Given the description of an element on the screen output the (x, y) to click on. 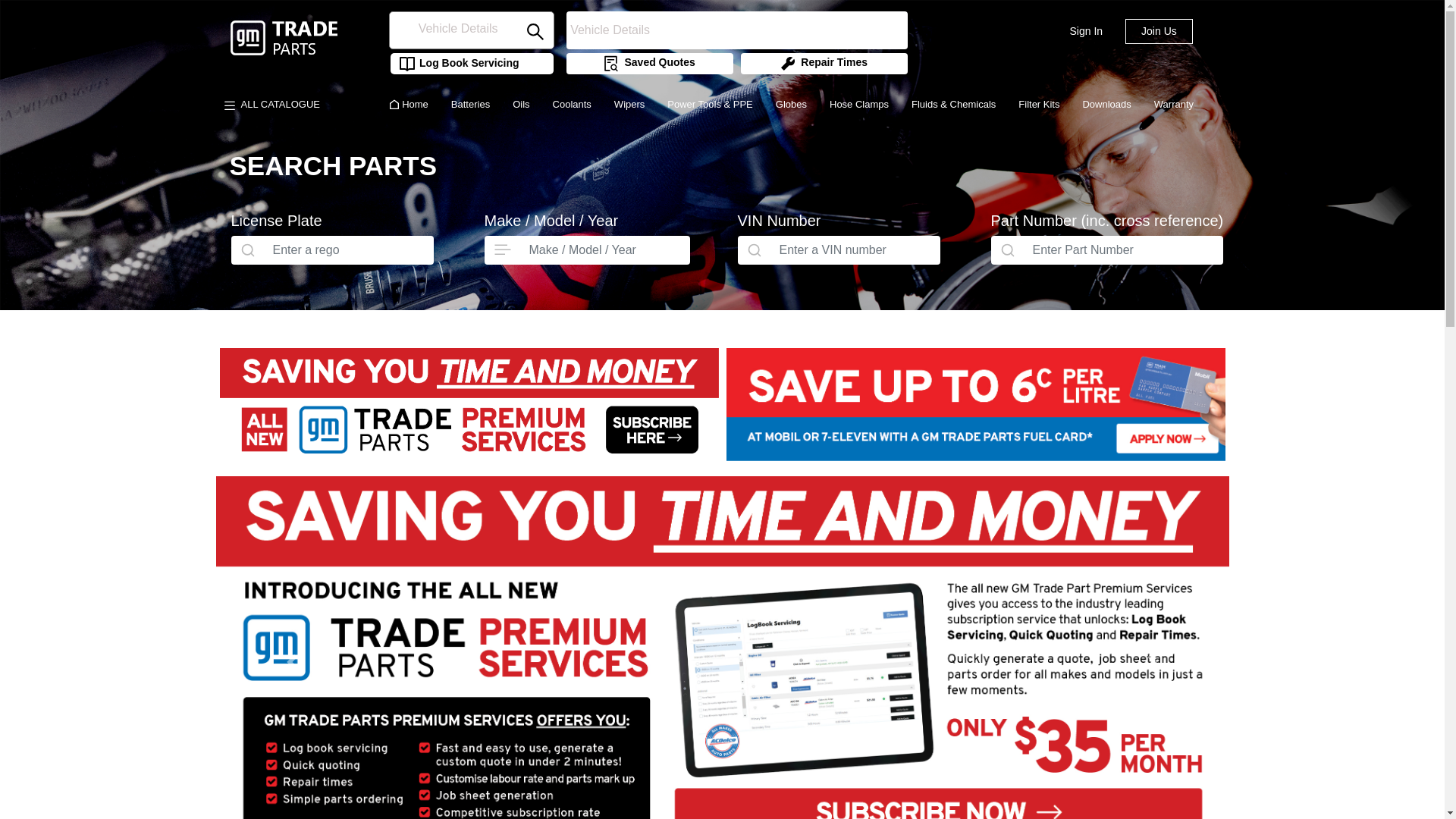
Oils Element type: text (520, 104)
Home Element type: text (407, 104)
Batteries Element type: text (470, 104)
Saved Quotes Element type: text (648, 63)
Warranty Element type: text (1173, 104)
Filter Kits Element type: text (1038, 104)
Globes Element type: text (791, 104)
Downloads Element type: text (1106, 104)
Join Us Element type: text (1158, 30)
Wipers Element type: text (628, 104)
Repair Times Element type: text (822, 63)
Hose Clamps Element type: text (859, 104)
Power Tools & PPE Element type: text (709, 104)
Sign In Element type: text (1085, 31)
Fluids & Chemicals Element type: text (953, 104)
Log Book Servicing Element type: text (454, 63)
Coolants Element type: text (571, 104)
